Given the description of an element on the screen output the (x, y) to click on. 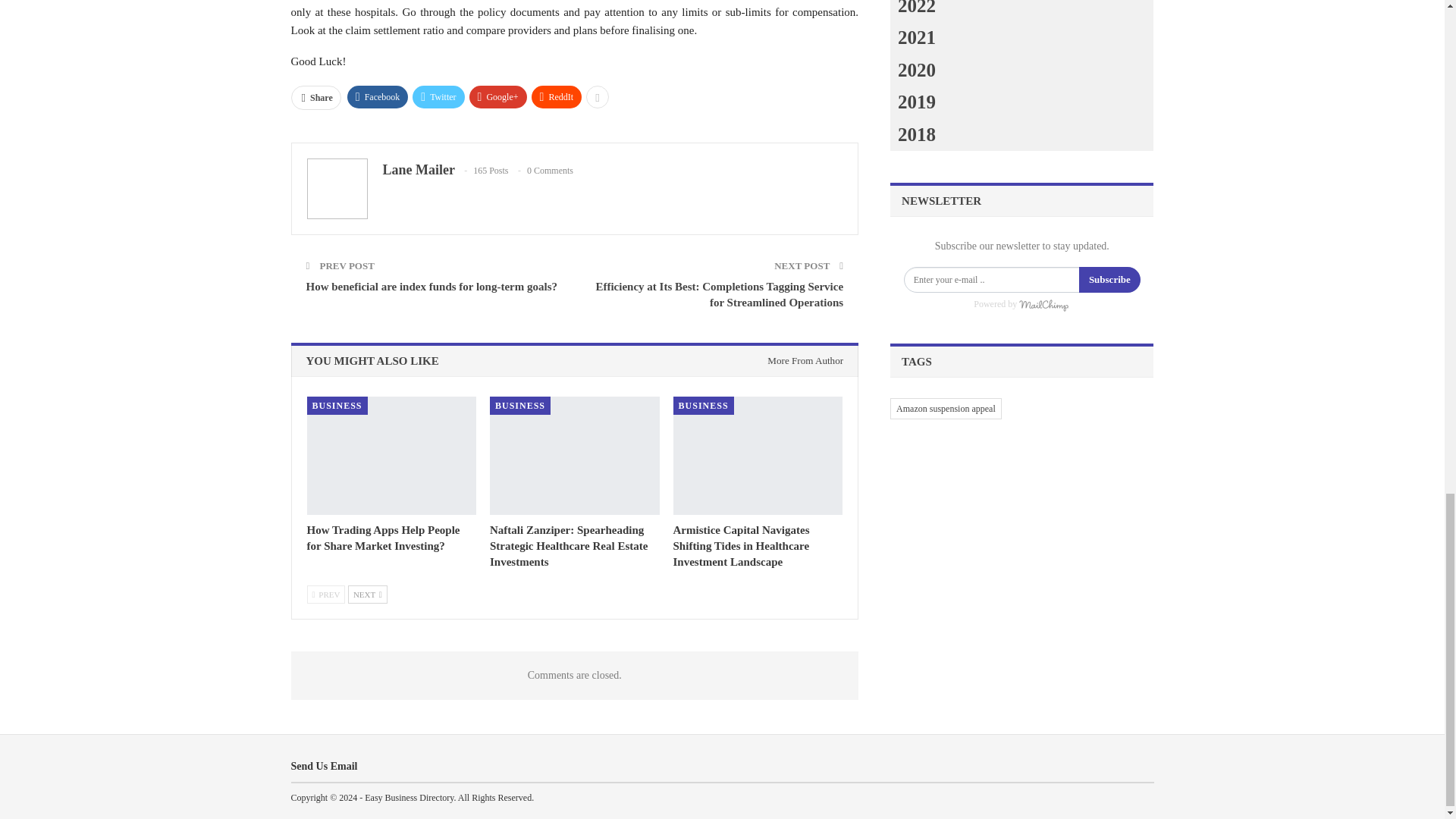
Twitter (438, 96)
Facebook (378, 96)
How Trading Apps Help People for Share Market Investing? (382, 538)
How Trading Apps Help People for Share Market Investing? (390, 455)
Next (367, 594)
Previous (325, 594)
